Given the description of an element on the screen output the (x, y) to click on. 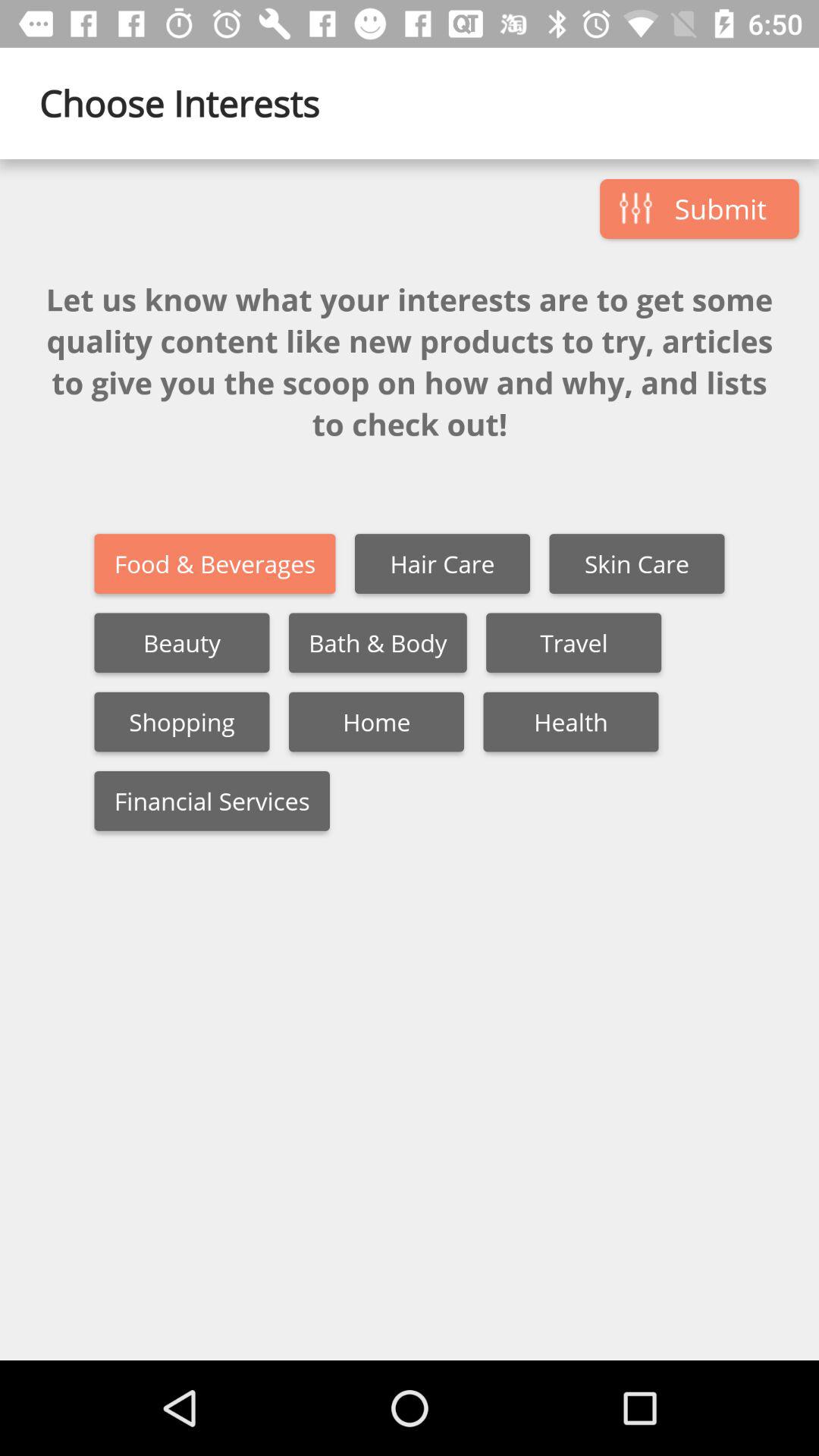
tap the icon to the left of health icon (376, 721)
